Given the description of an element on the screen output the (x, y) to click on. 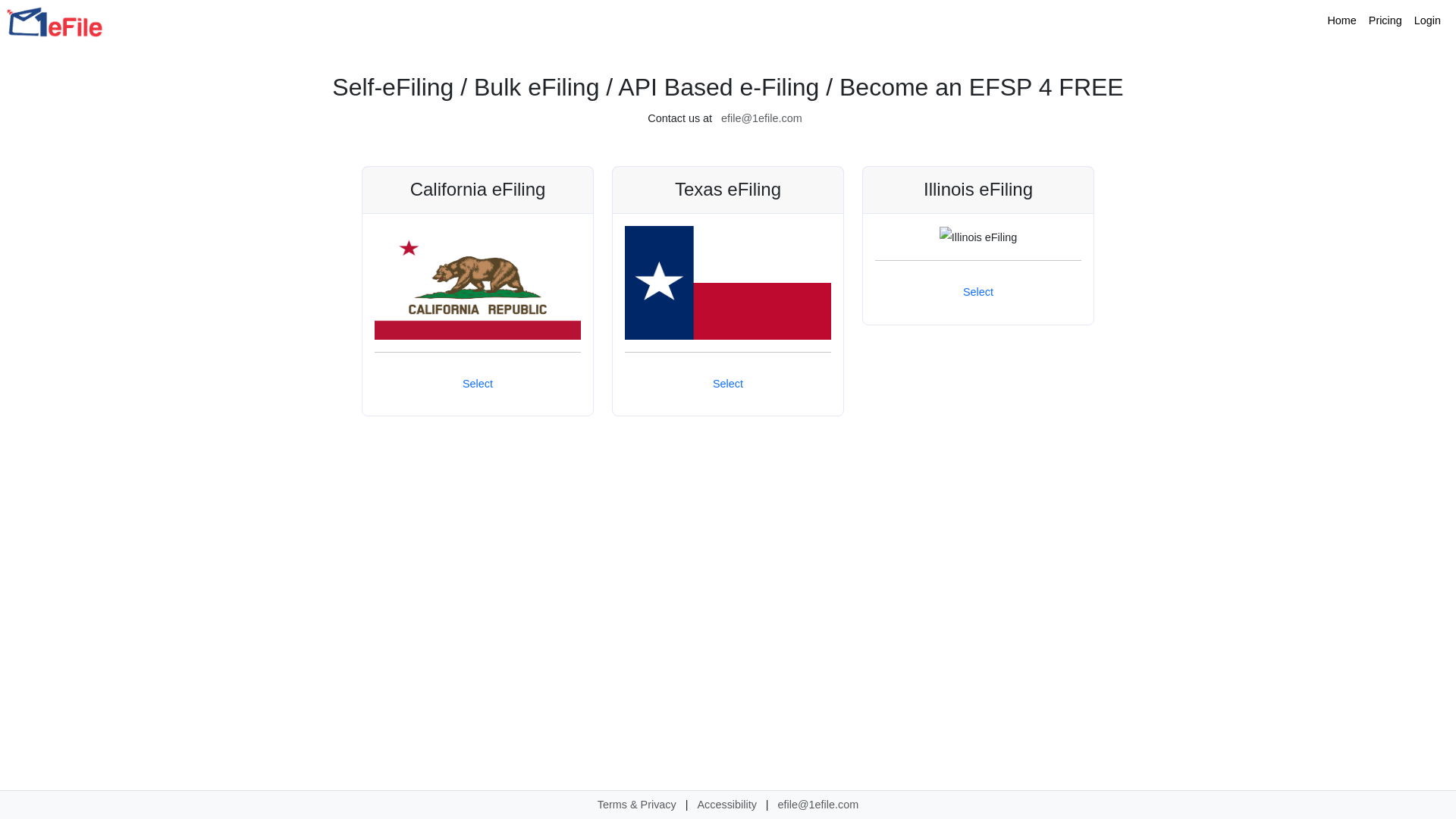
Accessibility Element type: text (726, 804)
Terms & Privacy Element type: text (636, 804)
efile@1efile.com Element type: text (818, 804)
Pricing Element type: text (1385, 20)
efile@1efile.com Element type: text (761, 118)
Select Element type: text (727, 384)
Select Element type: text (978, 292)
Select Element type: text (477, 384)
Home Element type: text (1341, 20)
Login Element type: text (1427, 20)
